Given the description of an element on the screen output the (x, y) to click on. 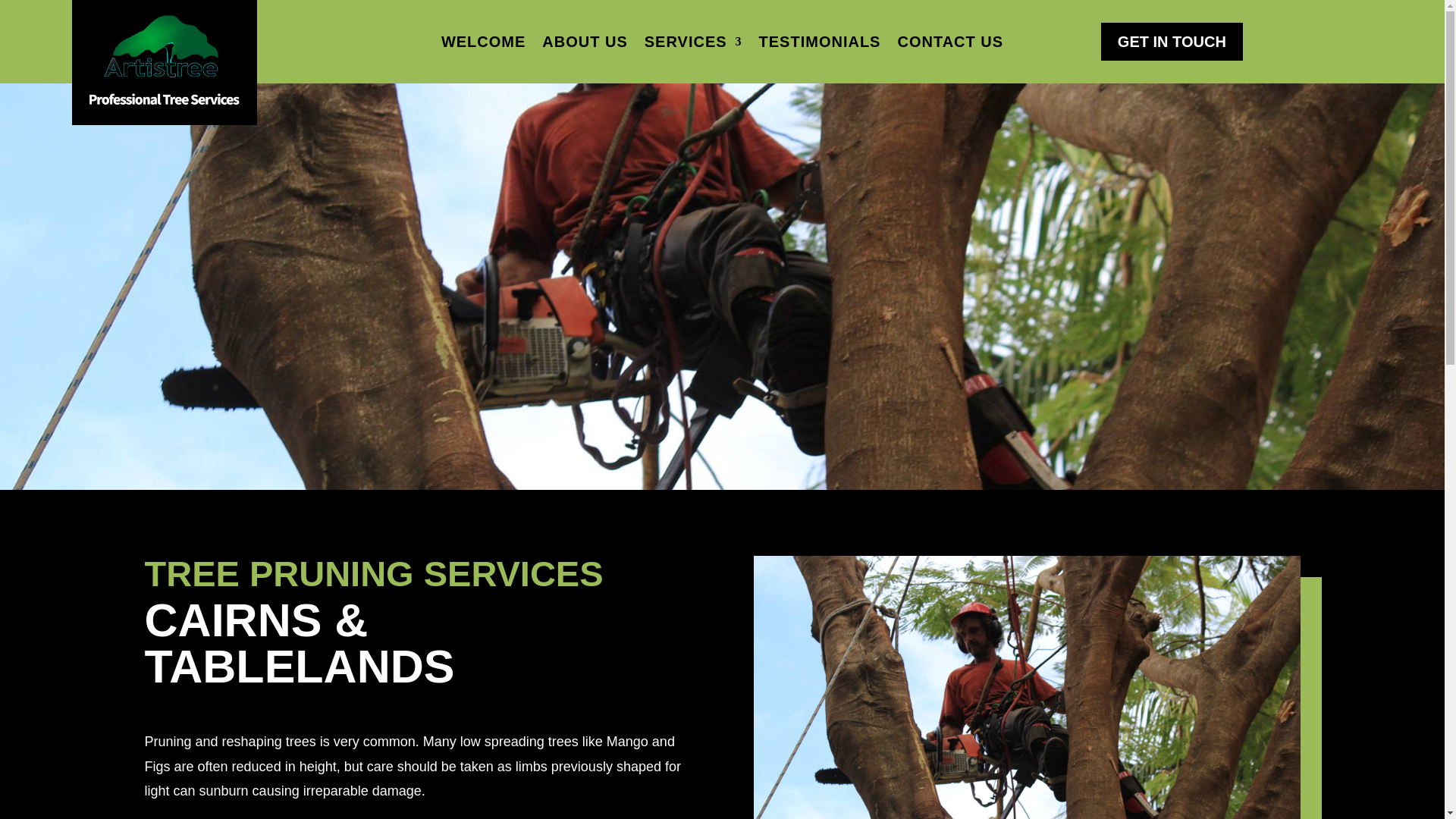
CONTACT US (949, 44)
ABOUT US (584, 44)
WELCOME (483, 44)
TESTIMONIALS (819, 44)
GET IN TOUCH (1171, 41)
SERVICES (693, 44)
artistree-logo-transparent (163, 62)
